Given the description of an element on the screen output the (x, y) to click on. 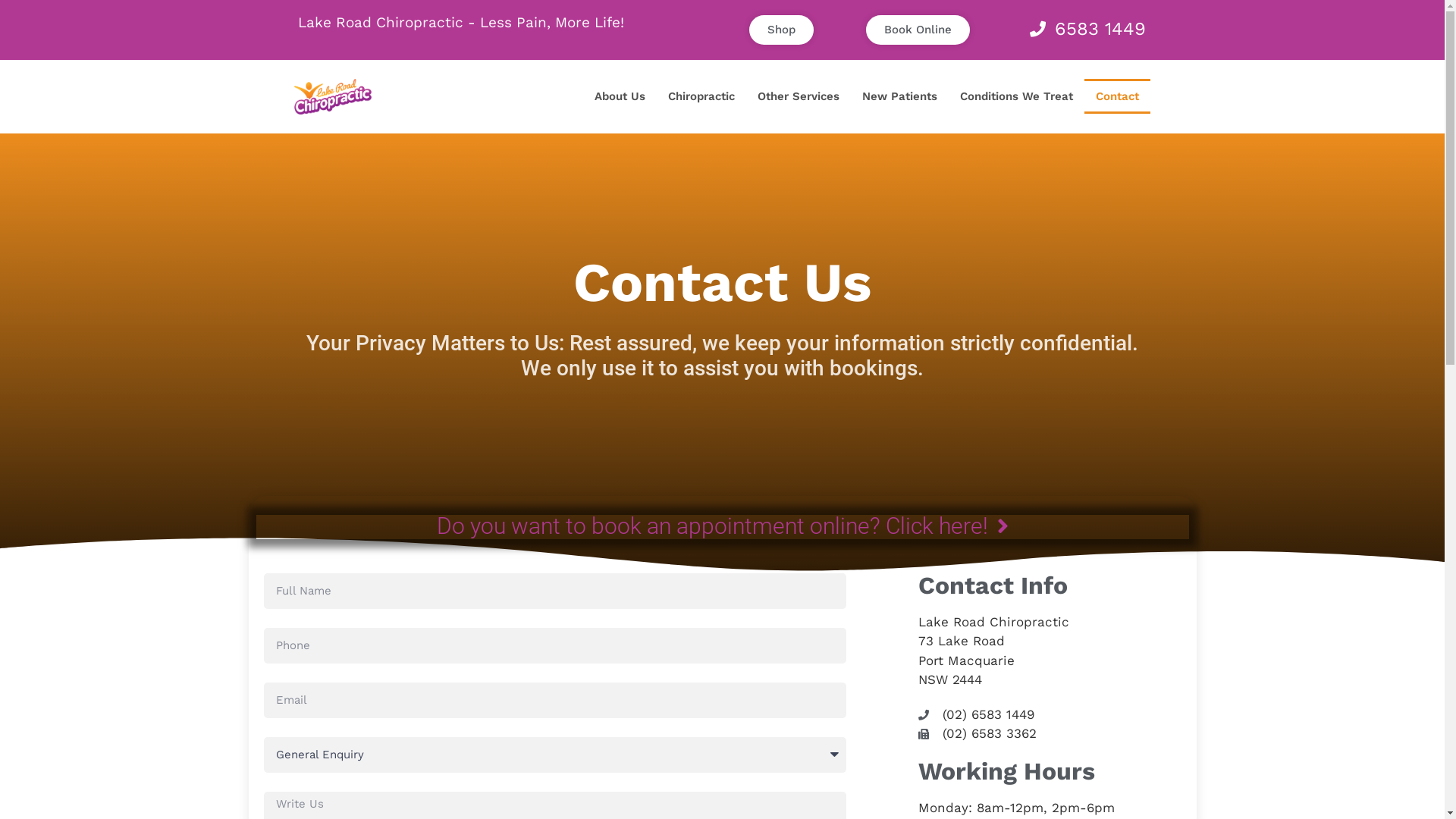
New Patients Element type: text (899, 95)
6583 1449 Element type: text (1085, 28)
Book Online Element type: text (917, 29)
Chiropractic Element type: text (701, 95)
About Us Element type: text (619, 95)
Conditions We Treat Element type: text (1016, 95)
Shop Element type: text (781, 29)
Other Services Element type: text (798, 95)
(02) 6583 1449 Element type: text (1049, 714)
Contact Element type: text (1117, 95)
Do you want to book an appointment online? Click here! Element type: text (722, 526)
